Given the description of an element on the screen output the (x, y) to click on. 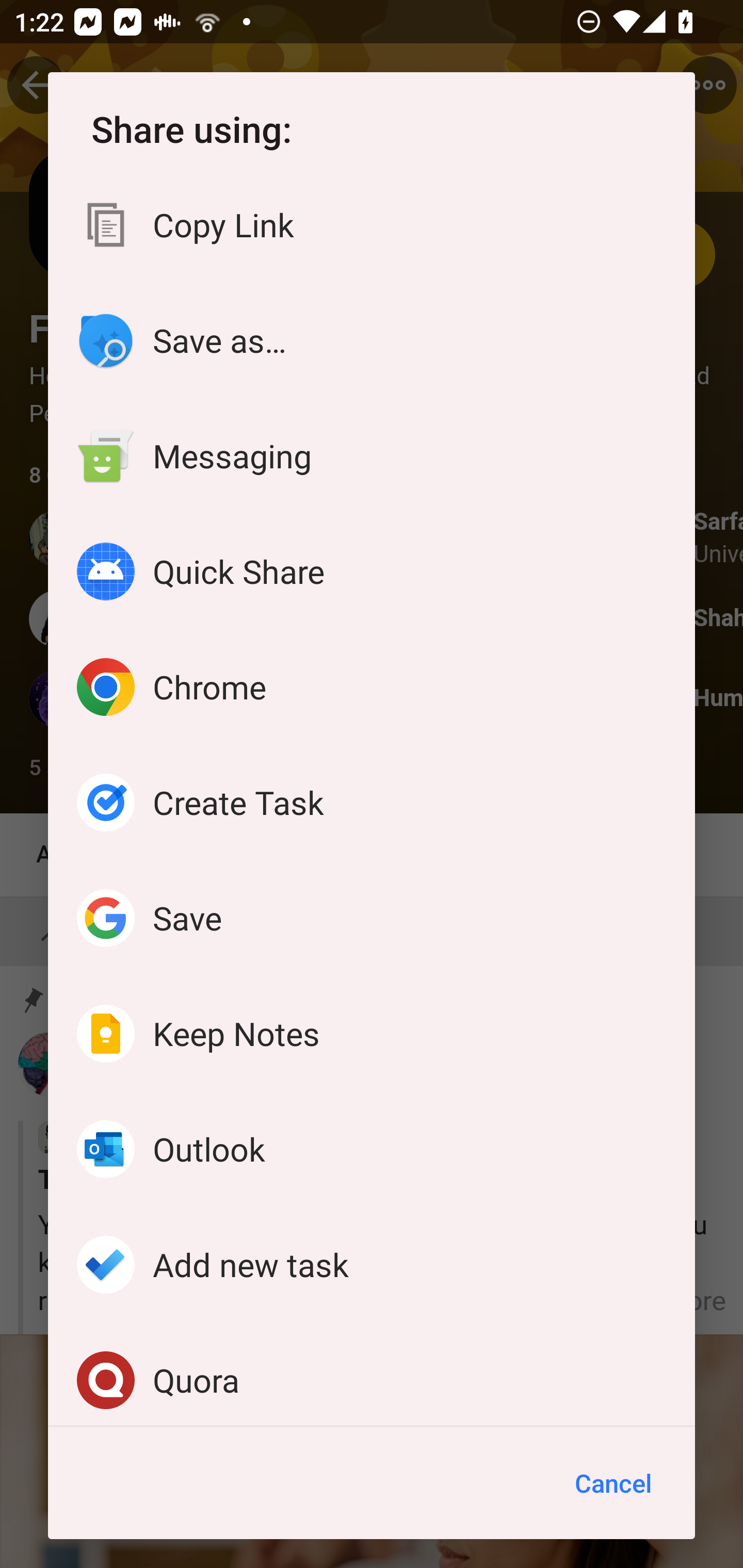
Copy Link (371, 224)
Save as… (371, 340)
Messaging (371, 456)
Quick Share (371, 571)
Chrome (371, 686)
Create Task (371, 802)
Save (371, 917)
Keep Notes (371, 1033)
Outlook (371, 1149)
Add new task (371, 1264)
Quora (371, 1373)
Cancel (612, 1482)
